Given the description of an element on the screen output the (x, y) to click on. 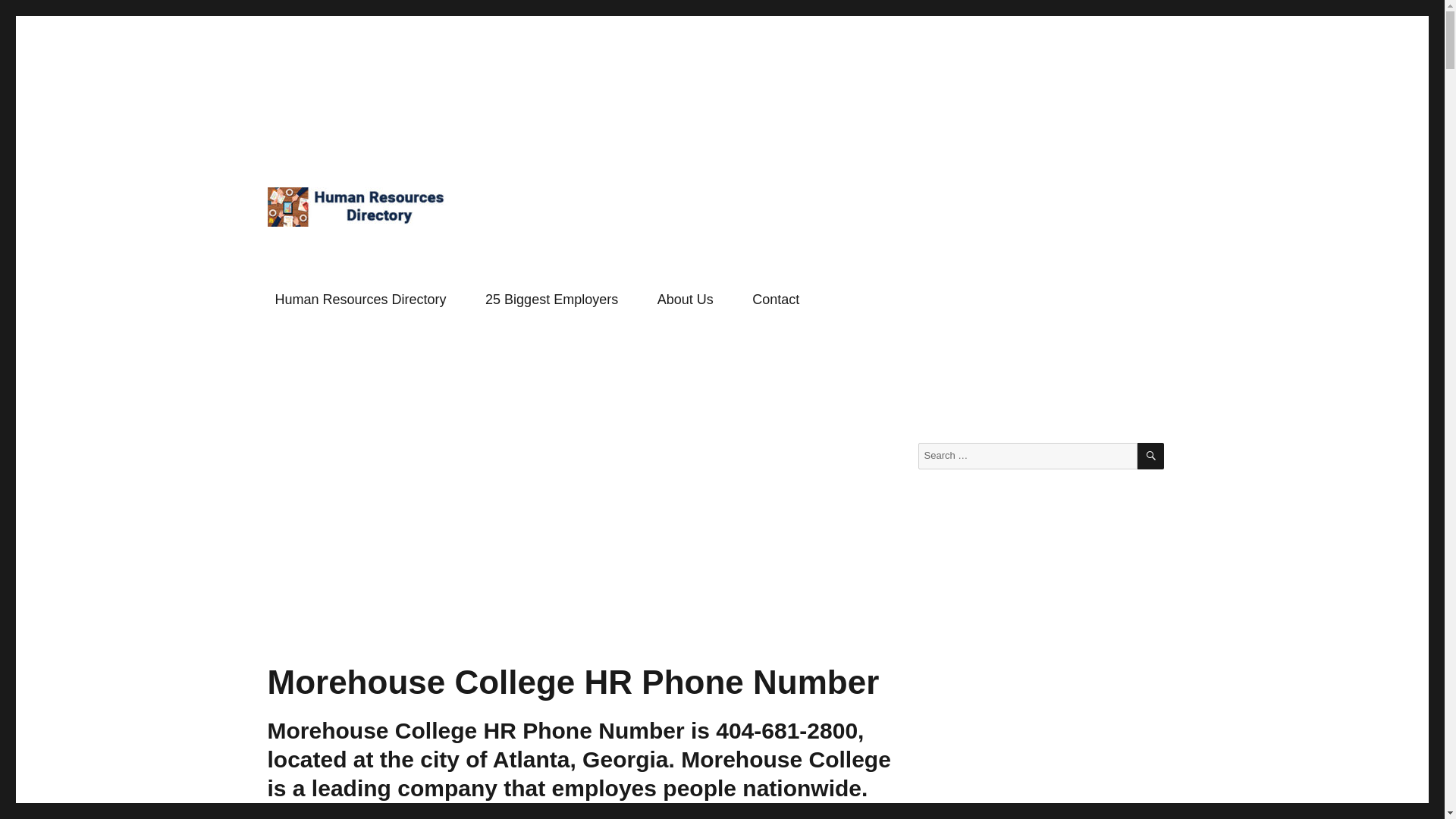
SEARCH (1150, 456)
25 Biggest Employers (551, 299)
About Us (685, 299)
Human Resources Directory (409, 250)
Contact (774, 299)
Human Resources Directory (360, 299)
